Given the description of an element on the screen output the (x, y) to click on. 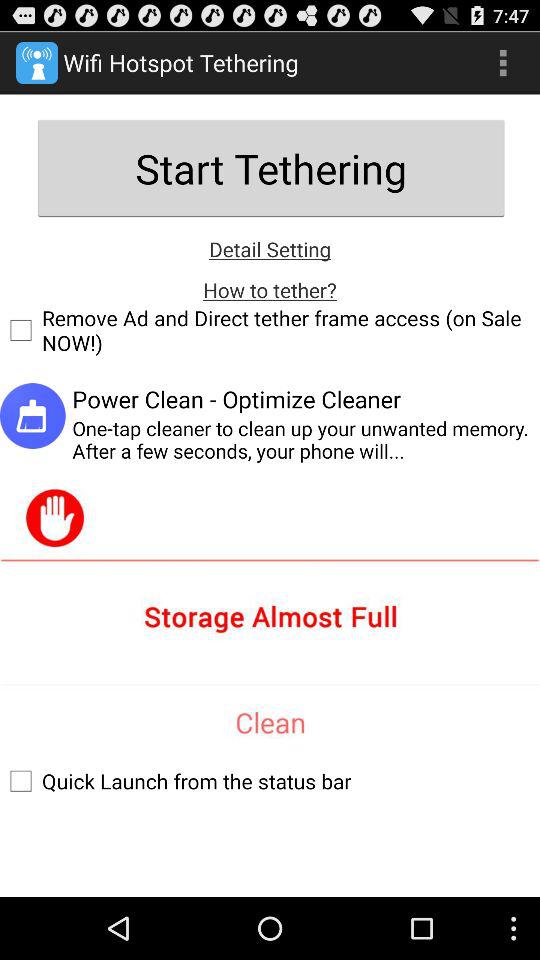
open main menu (503, 62)
